Given the description of an element on the screen output the (x, y) to click on. 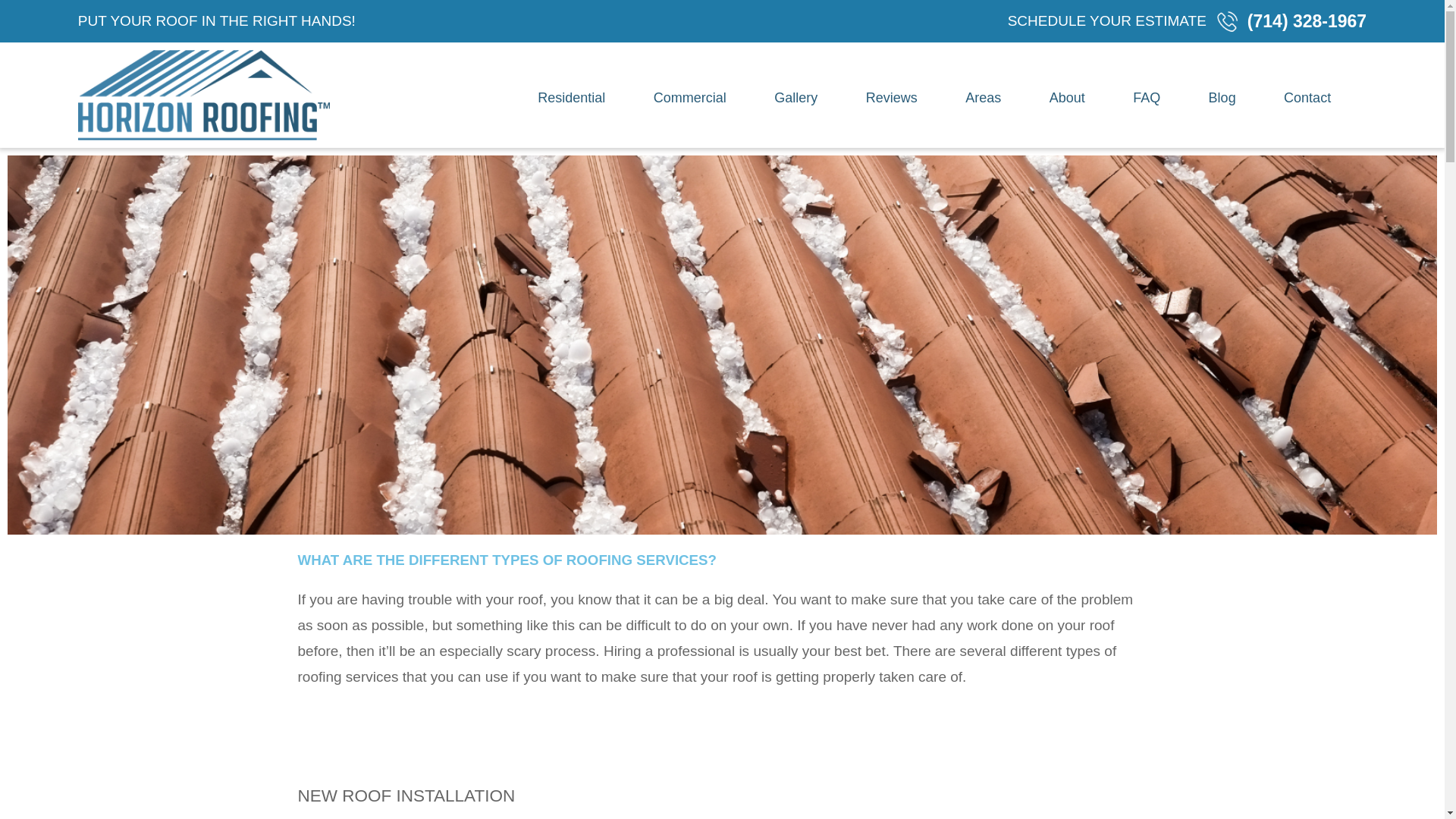
Contact (1307, 97)
Residential (571, 97)
Areas (983, 97)
Reviews (891, 97)
Gallery (796, 97)
FAQ (1146, 97)
About (1067, 97)
Horizon Roofing (204, 94)
Commercial (690, 97)
Blog (1221, 97)
